Given the description of an element on the screen output the (x, y) to click on. 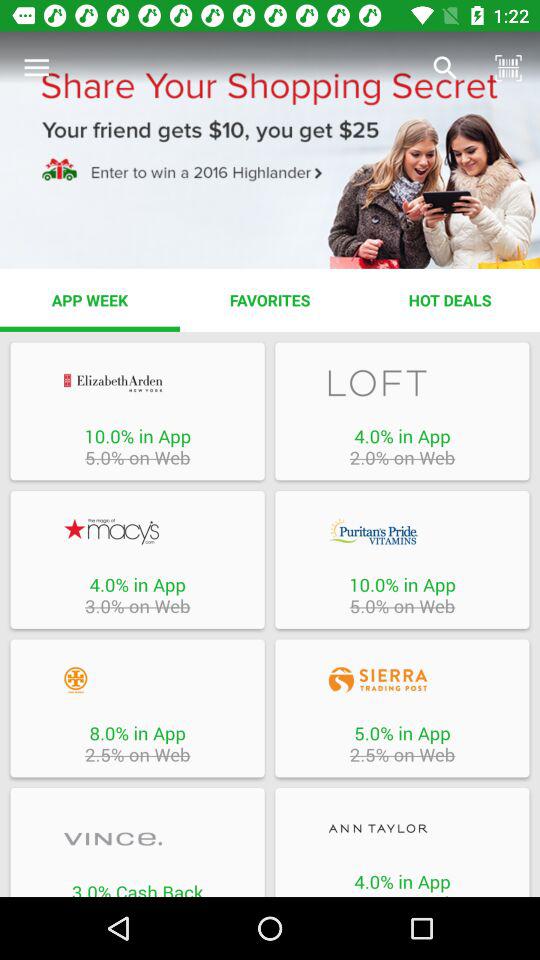
select coupon (402, 382)
